Given the description of an element on the screen output the (x, y) to click on. 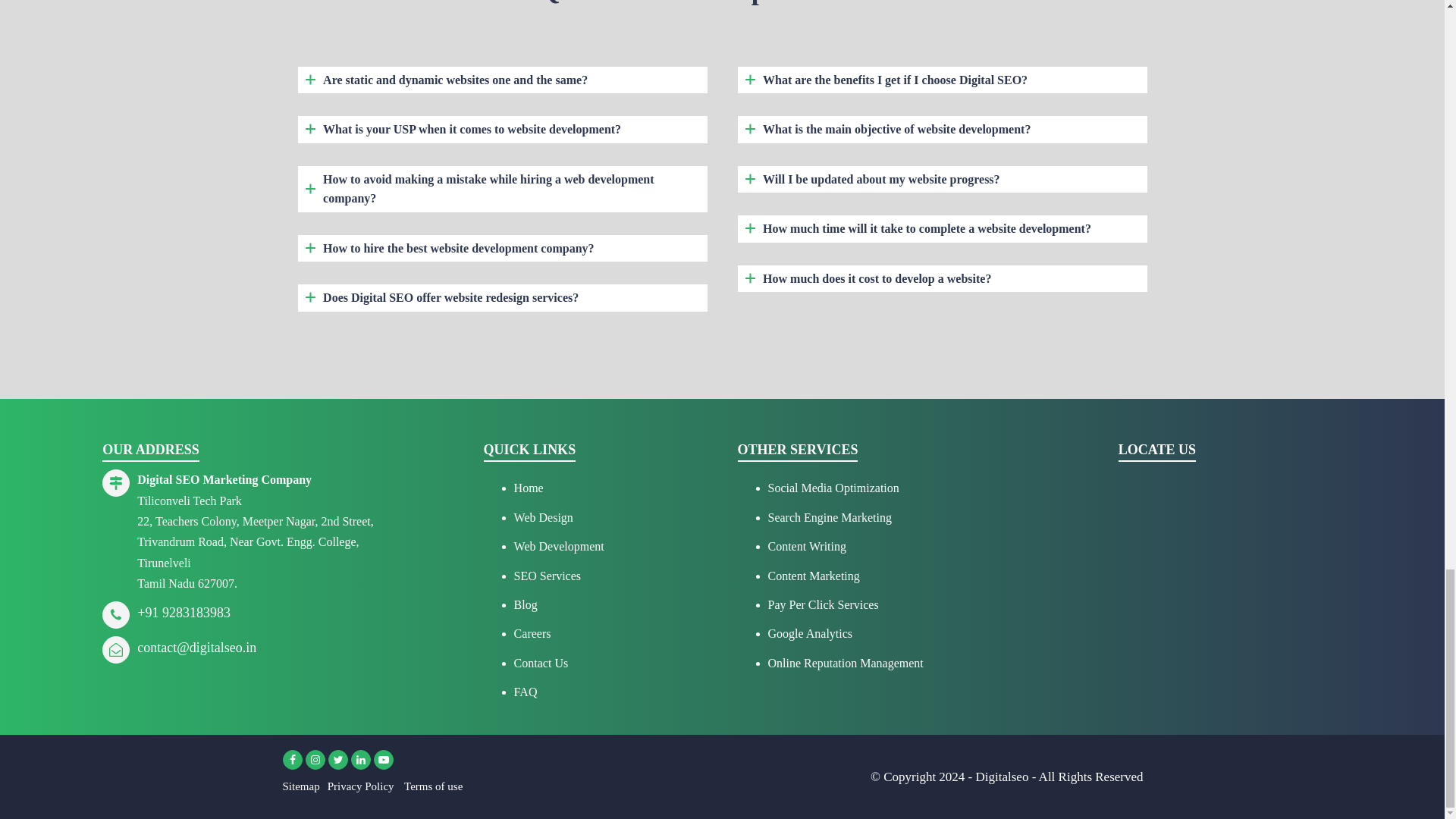
Online Reputation Management (845, 662)
Privacy Policy (360, 786)
DigitalSEO Tirunelveli (1230, 590)
Content Writing (806, 545)
Web Development (558, 545)
SEO Services (546, 575)
Social Media Optimization (832, 487)
Careers (532, 633)
FAQ (525, 691)
Google Analytics (809, 633)
